Given the description of an element on the screen output the (x, y) to click on. 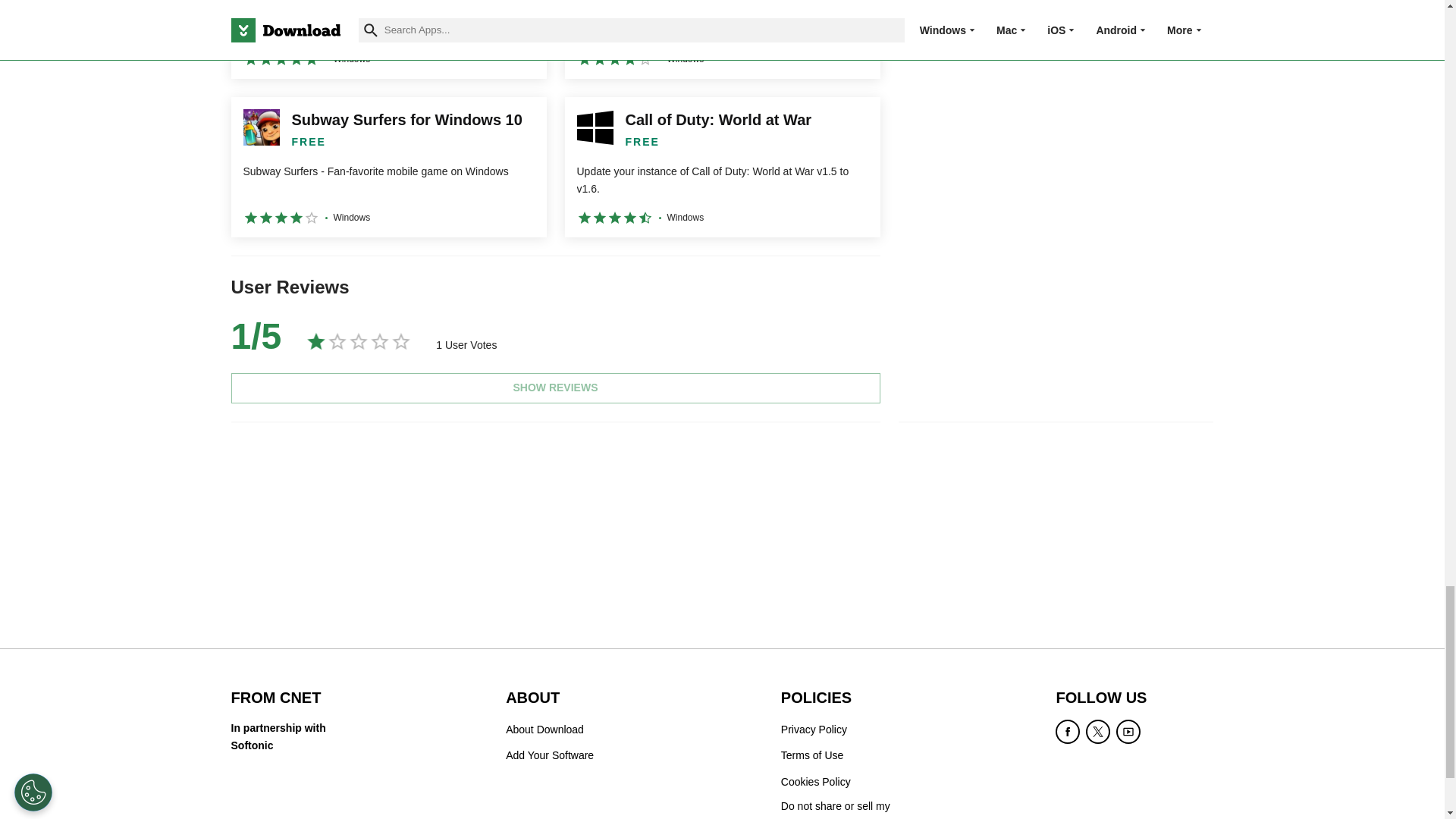
Score of 1 stars over 5 (255, 336)
Minecraft: Pocket Edition for Windows 10 (388, 39)
Grand Theft Auto: San Andreas for Windows 10 (721, 39)
Subway Surfers for Windows 10 (388, 167)
Call of Duty: World at War (721, 167)
Become a Facebook fan of Download.com (1067, 731)
